Given the description of an element on the screen output the (x, y) to click on. 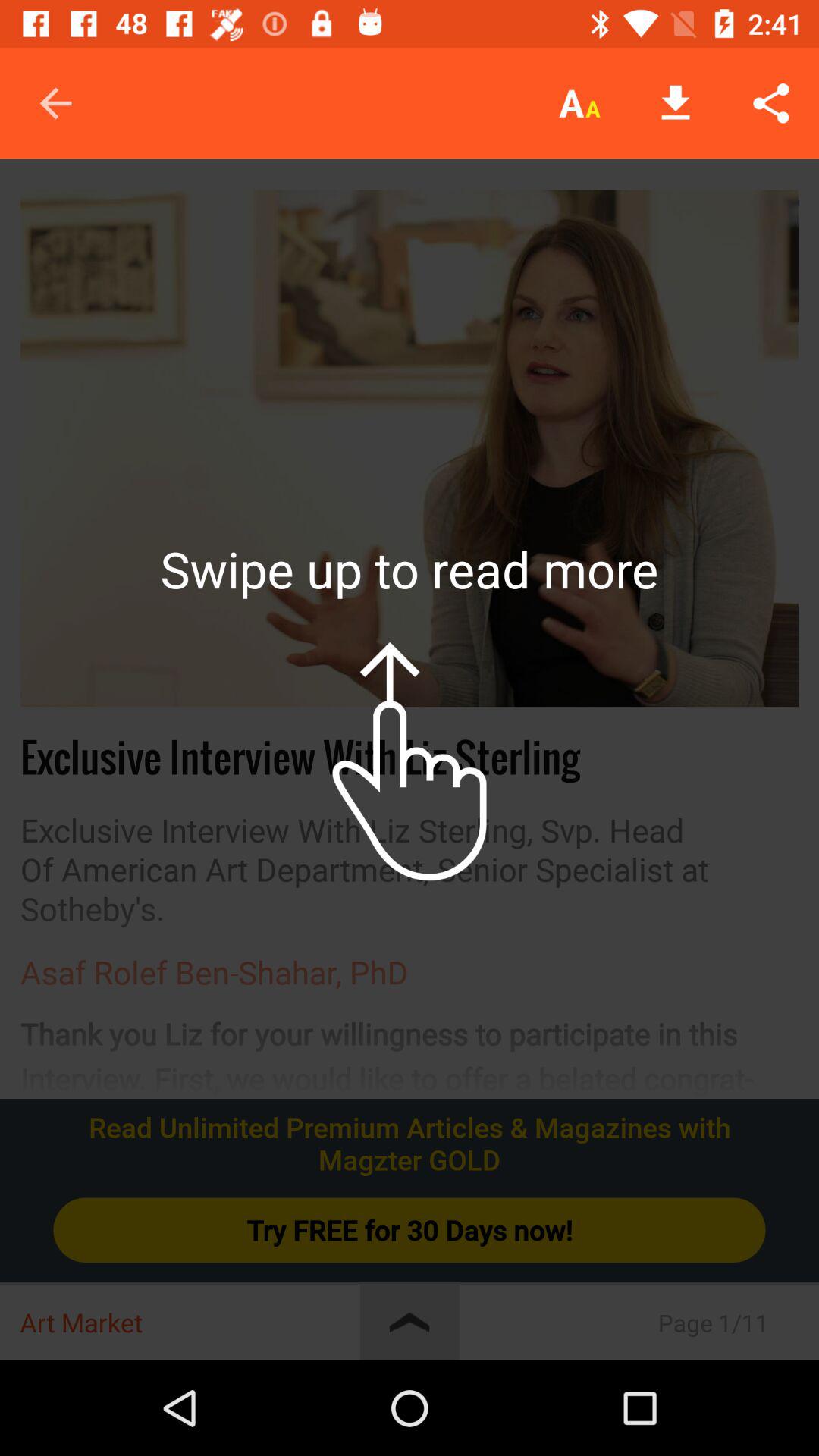
open item below read unlimited premium (409, 1229)
